Given the description of an element on the screen output the (x, y) to click on. 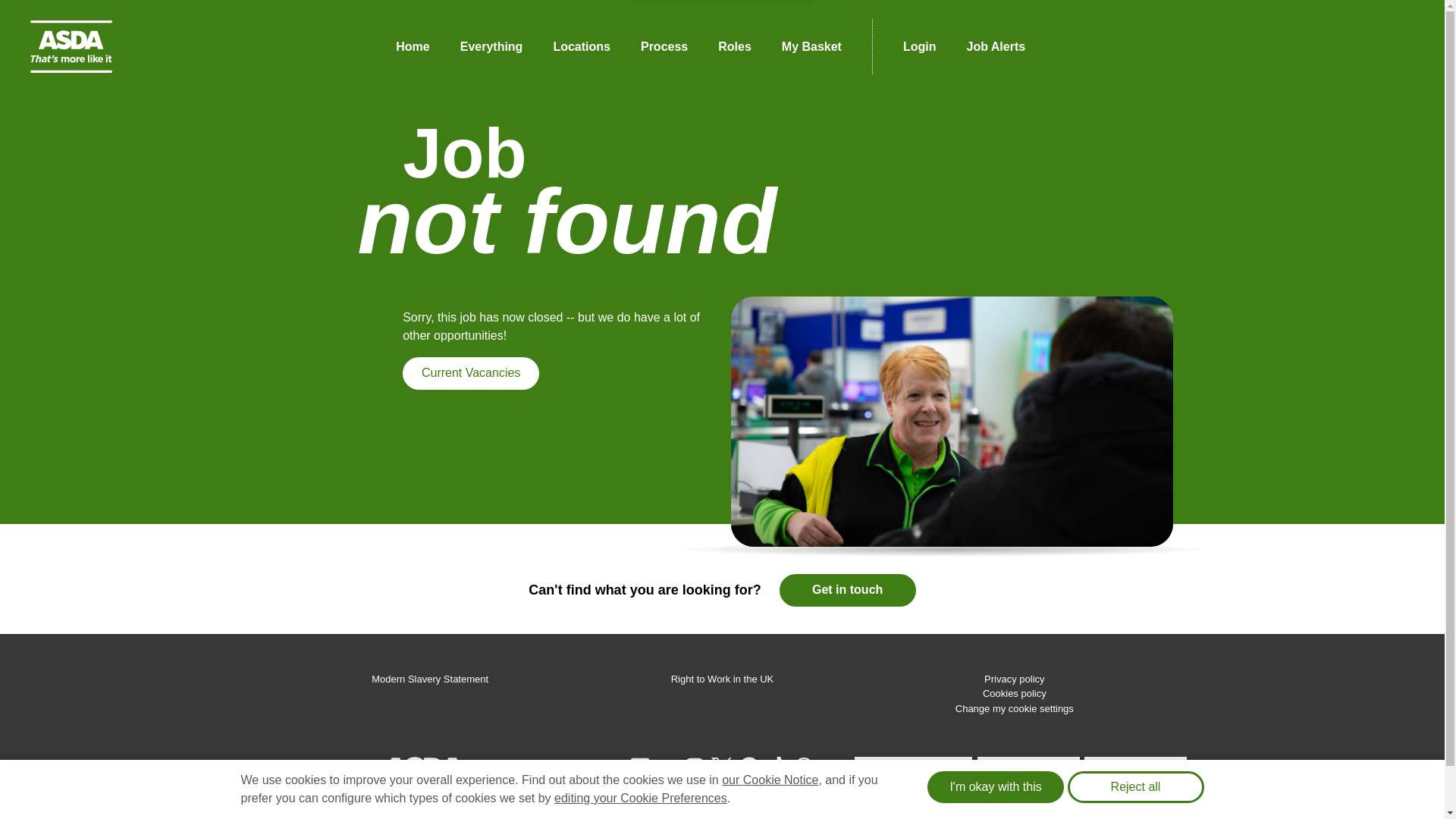
Process (664, 46)
Roles (735, 46)
our Cookie Notice (770, 779)
Job Alerts (995, 46)
Modern Slavery Statement (429, 678)
editing your Cookie Preferences (640, 797)
Privacy policy (1013, 678)
Change my cookie settings (1014, 708)
Cookies policy (1014, 693)
Right to Work in the UK (722, 678)
My Basket (812, 46)
Home (412, 46)
Login (920, 46)
Everything (491, 46)
Reject all (1135, 787)
